Given the description of an element on the screen output the (x, y) to click on. 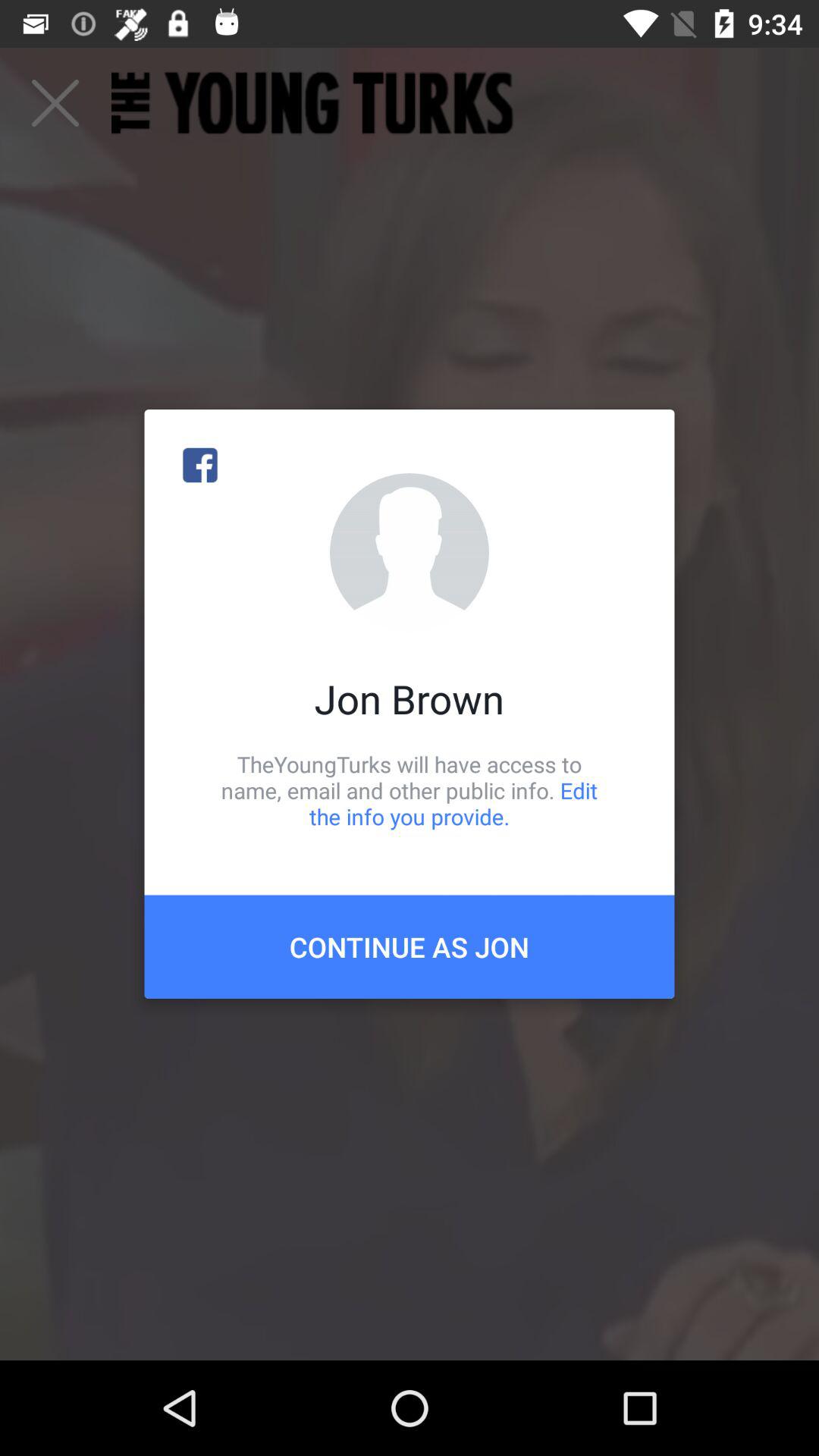
turn on icon below the jon brown (409, 790)
